Given the description of an element on the screen output the (x, y) to click on. 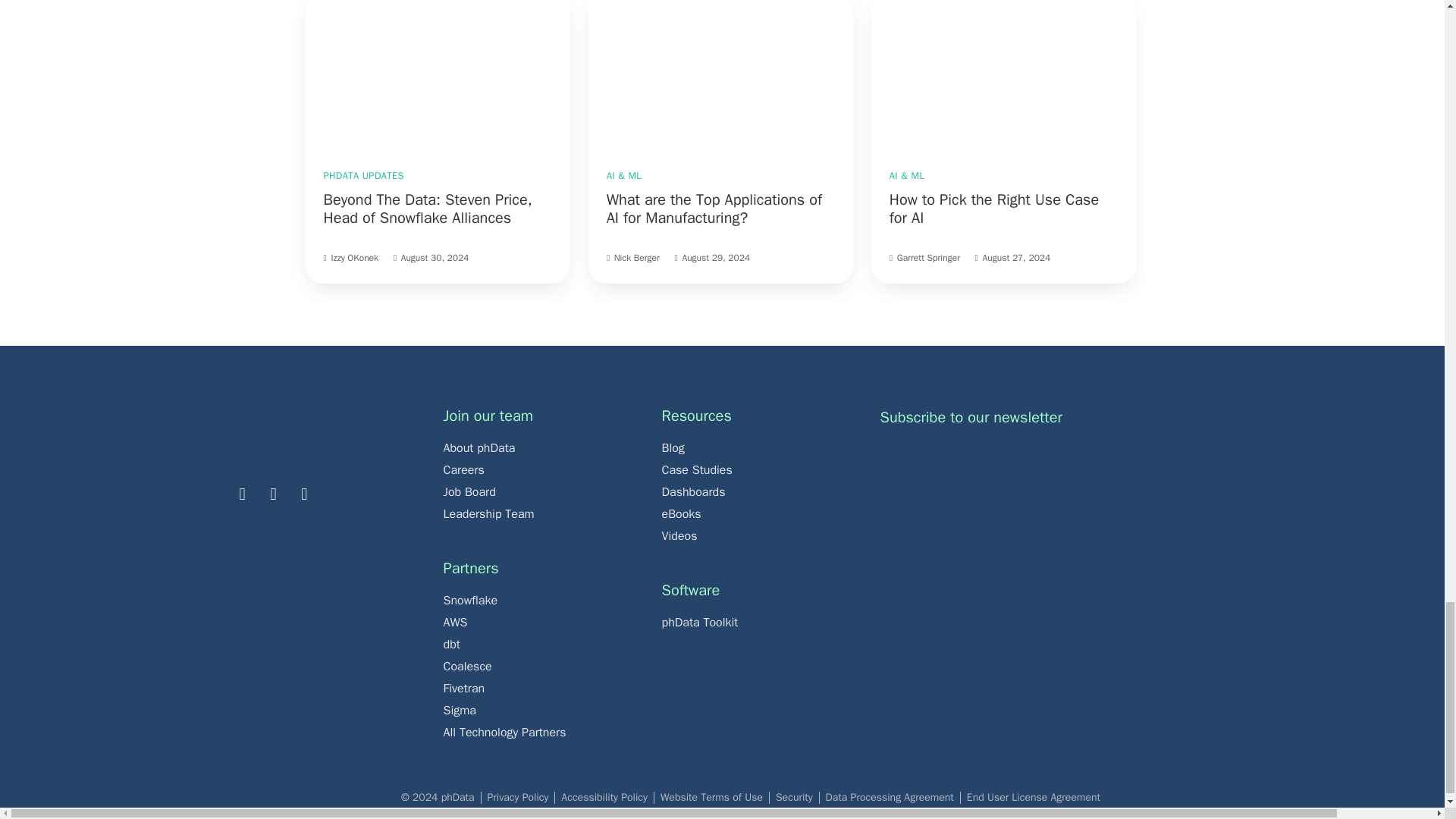
Posts by Izzy OKonek (354, 257)
Posts by Garrett Springer (927, 257)
Posts by Nick Berger (636, 257)
